Given the description of an element on the screen output the (x, y) to click on. 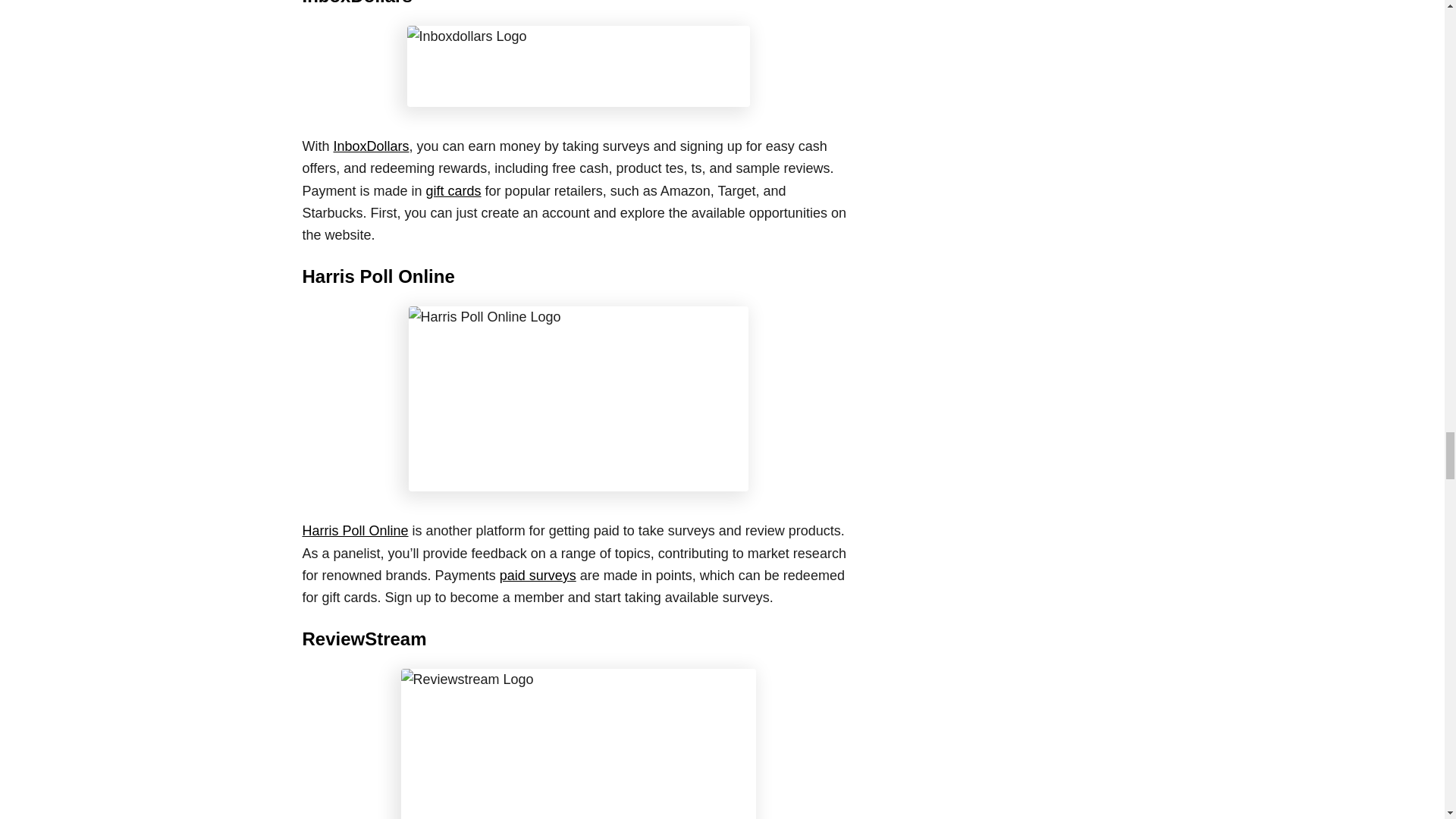
Reviewing Apps: A Comprehensive Guide for 2024 2 (577, 66)
Reviewstream (577, 744)
Harris Poll Online (577, 398)
